Given the description of an element on the screen output the (x, y) to click on. 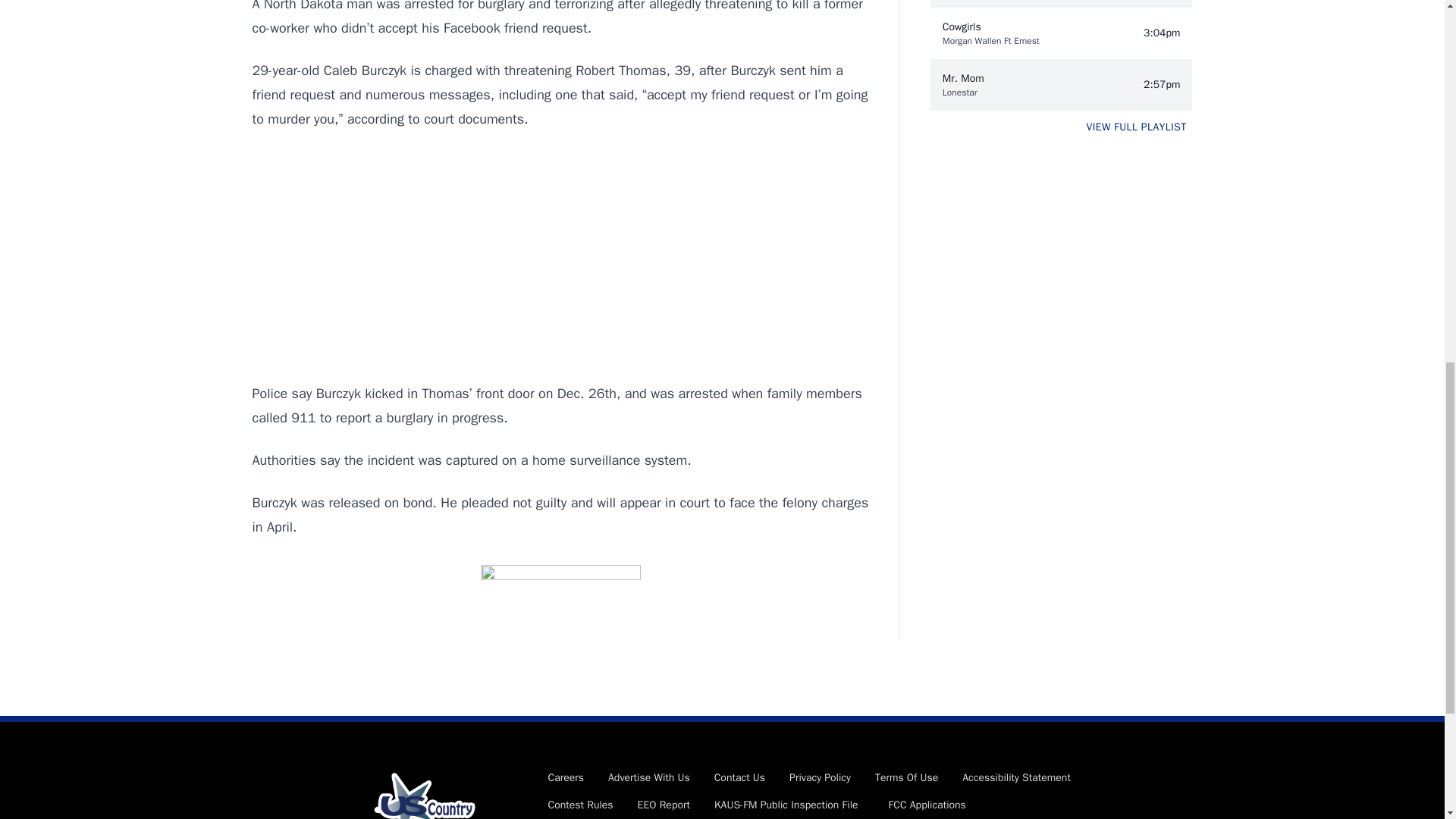
3rd party ad content (560, 256)
